Given the description of an element on the screen output the (x, y) to click on. 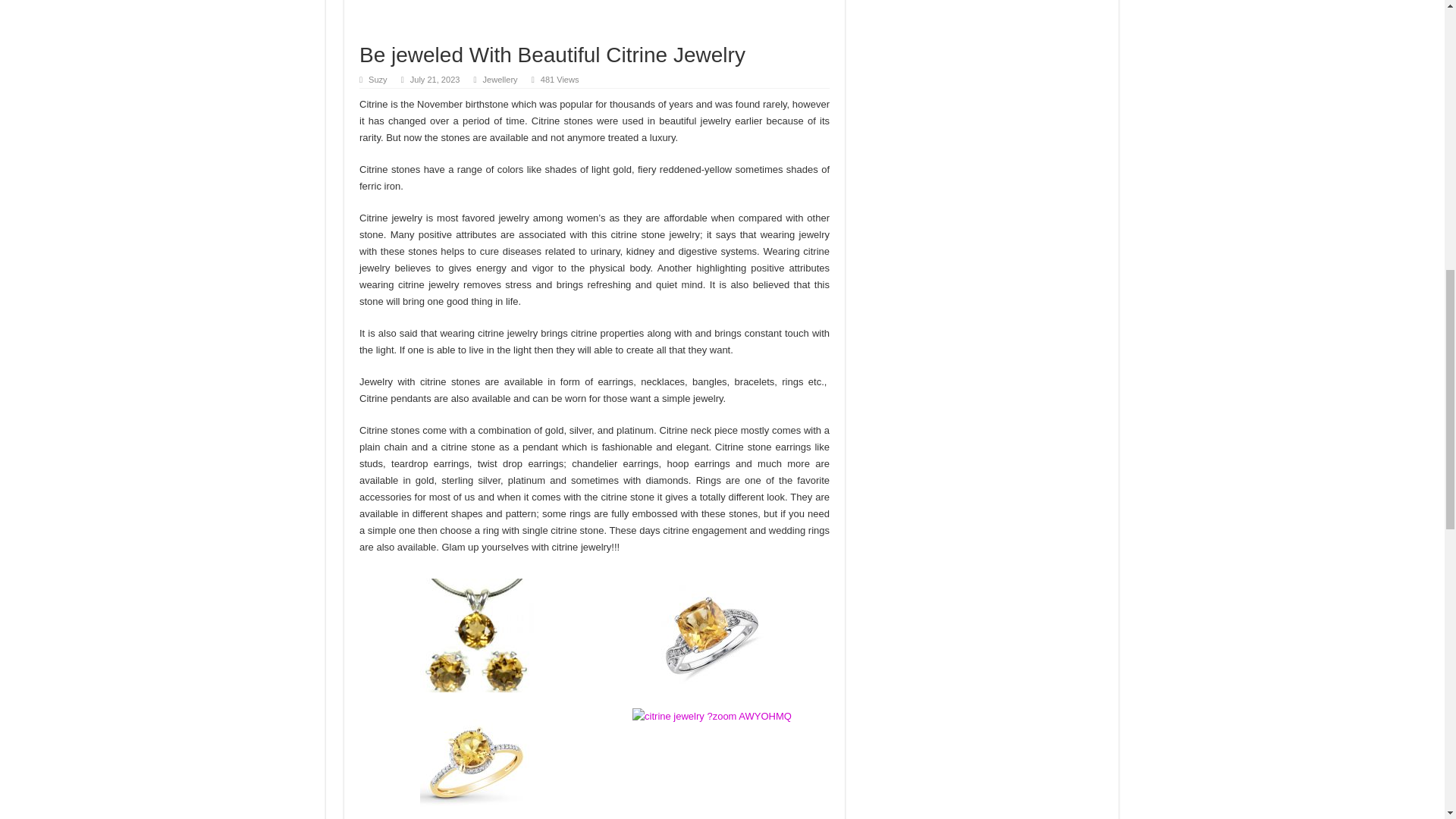
Advertisement (594, 21)
Jewellery (500, 79)
Suzy (377, 79)
